Given the description of an element on the screen output the (x, y) to click on. 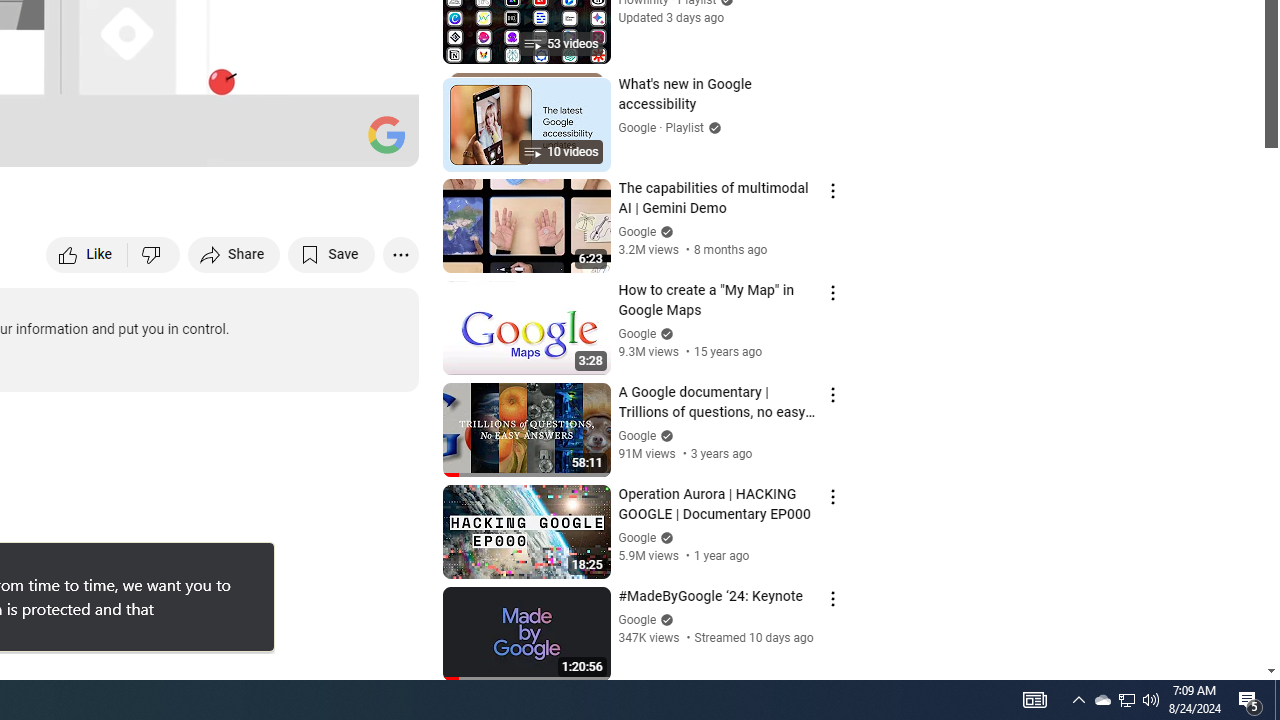
Share (234, 254)
Theater mode (t) (333, 142)
